Given the description of an element on the screen output the (x, y) to click on. 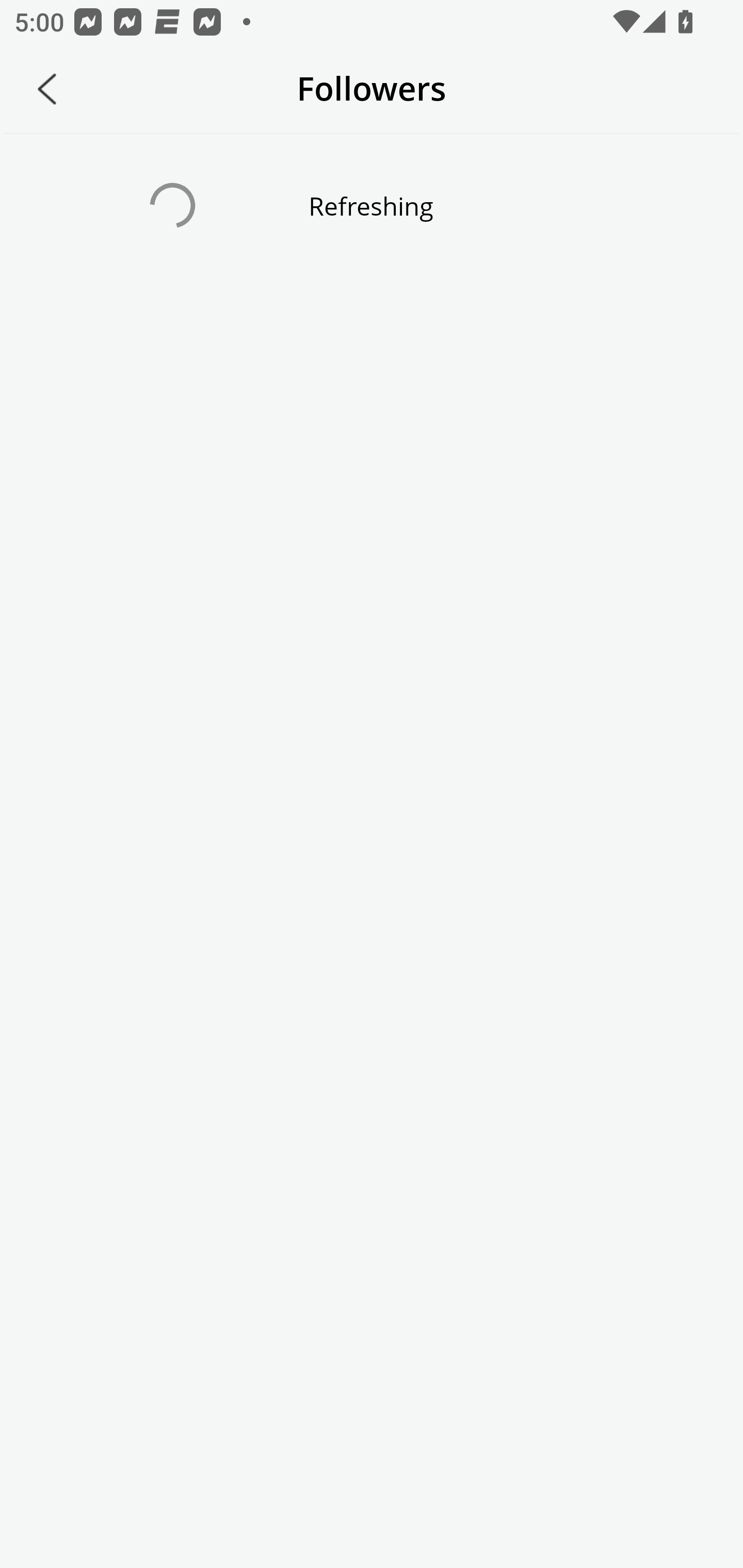
Back (46, 88)
